Given the description of an element on the screen output the (x, y) to click on. 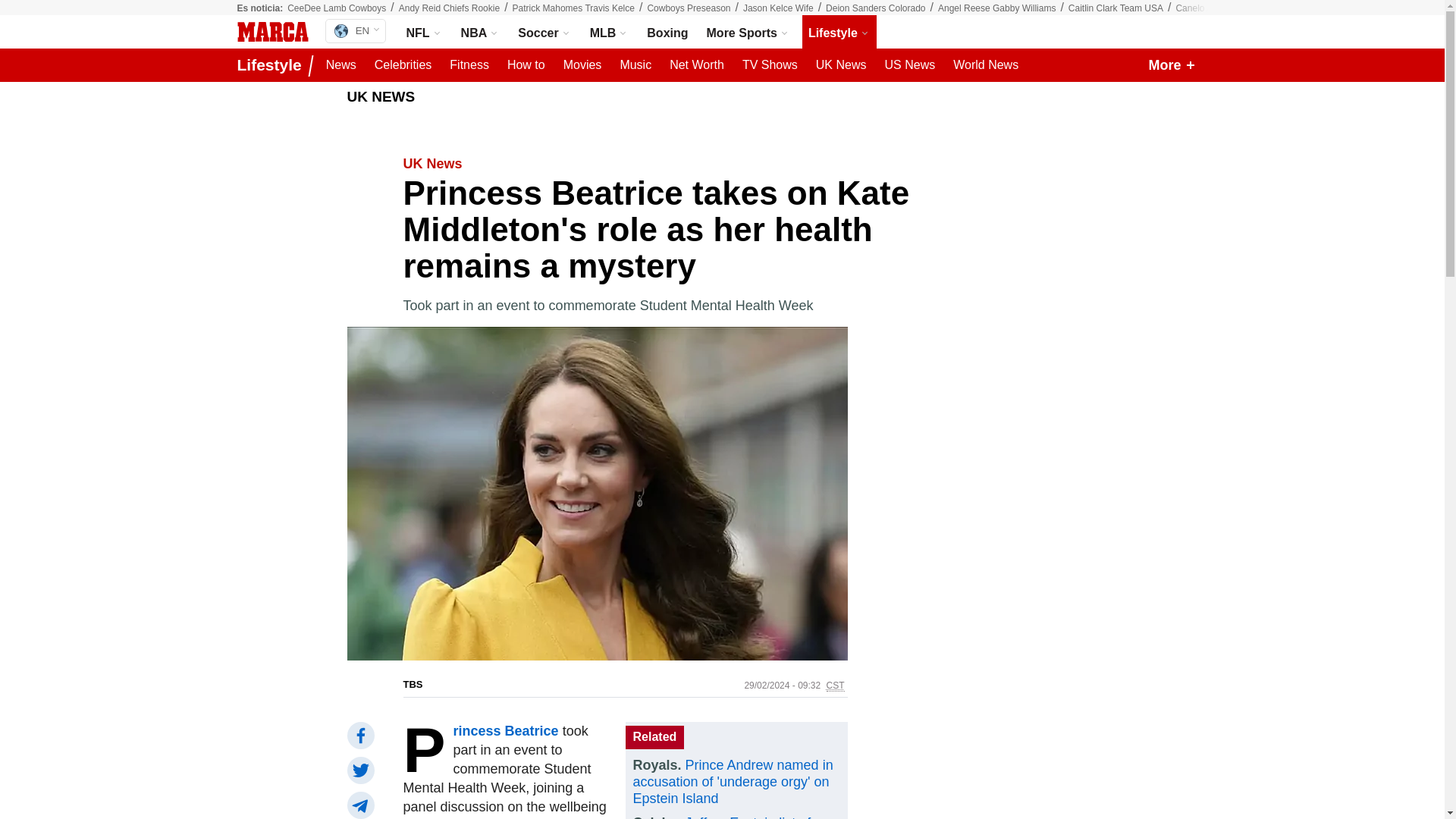
Soccer (544, 31)
How to (525, 64)
Cowboys Preseason (688, 8)
Soccer (544, 31)
UK News (840, 64)
Lifestyle (271, 64)
Deion Sanders Colorado (874, 8)
Net Worth (696, 64)
US News (908, 64)
Celebrities (403, 64)
